Given the description of an element on the screen output the (x, y) to click on. 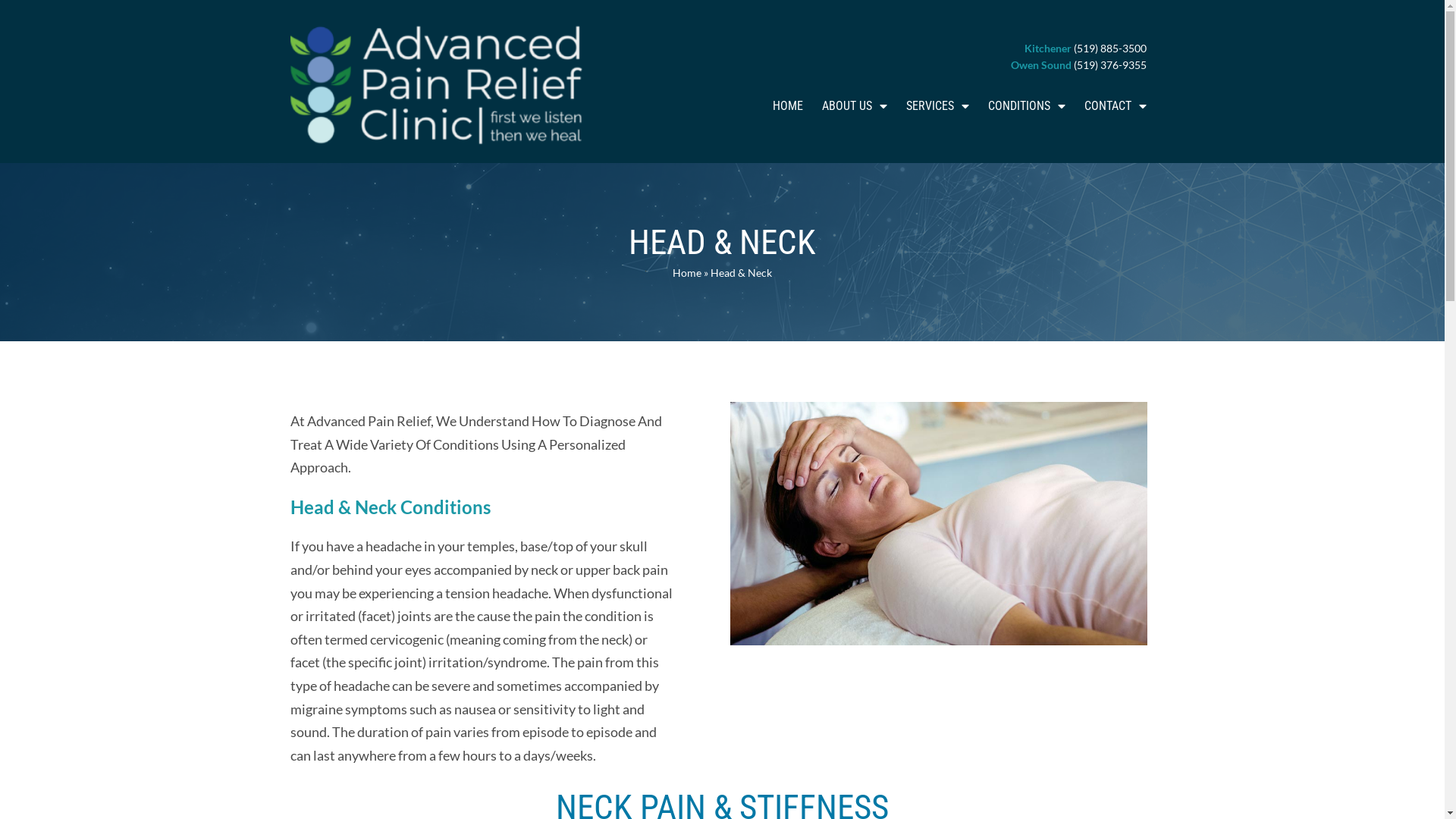
SERVICES Element type: text (937, 104)
Home Element type: text (686, 272)
CONTACT Element type: text (1115, 104)
ABOUT US Element type: text (854, 104)
HOME Element type: text (787, 104)
CONDITIONS Element type: text (1026, 104)
